Given the description of an element on the screen output the (x, y) to click on. 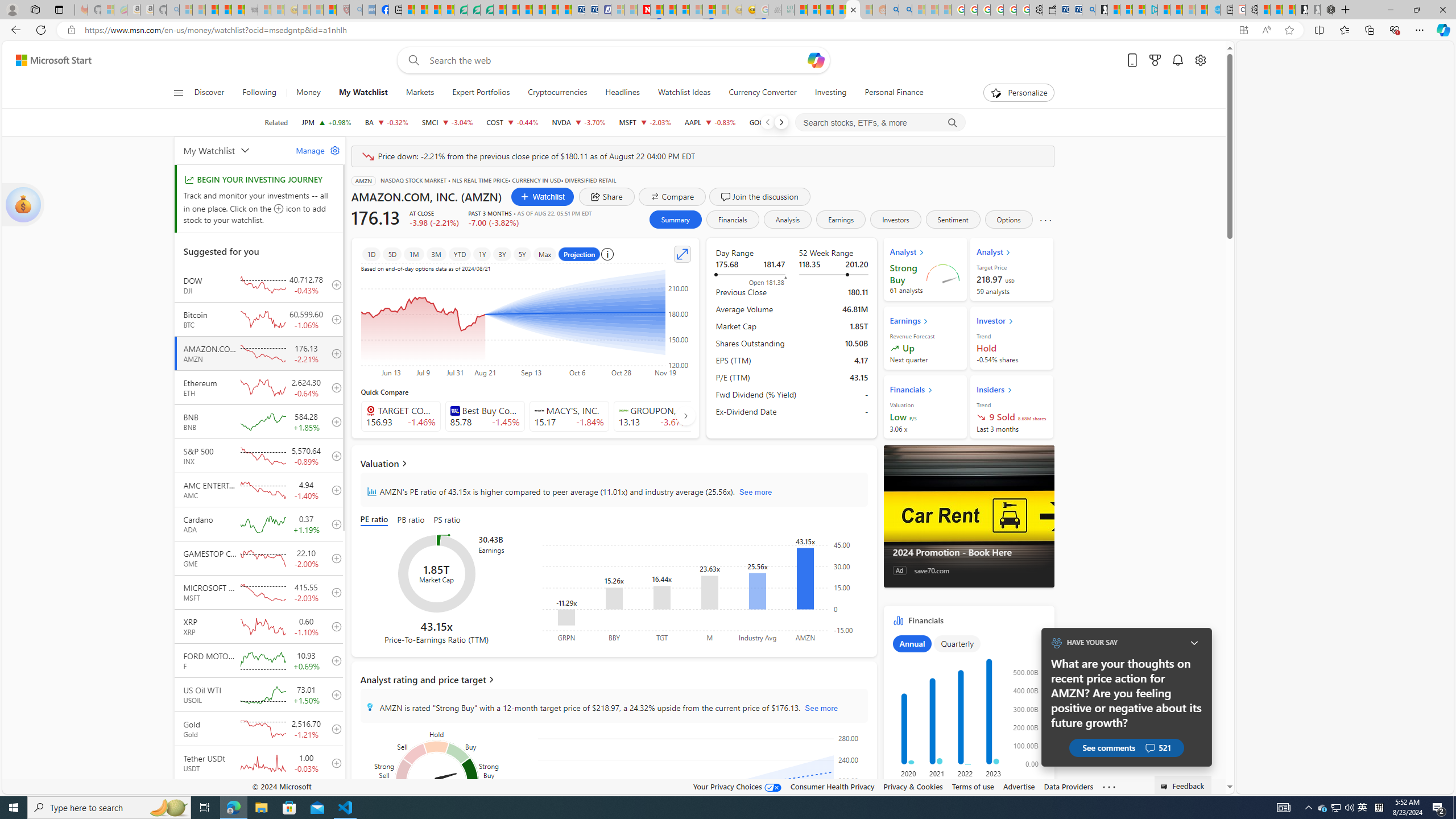
Expert Portfolios (480, 92)
Class: feedback_link_icon-DS-EntryPoint1-1 (1165, 786)
Next (780, 122)
Headlines (622, 92)
Latest Politics News & Archive | Newsweek.com (643, 9)
Investing (830, 92)
